Given the description of an element on the screen output the (x, y) to click on. 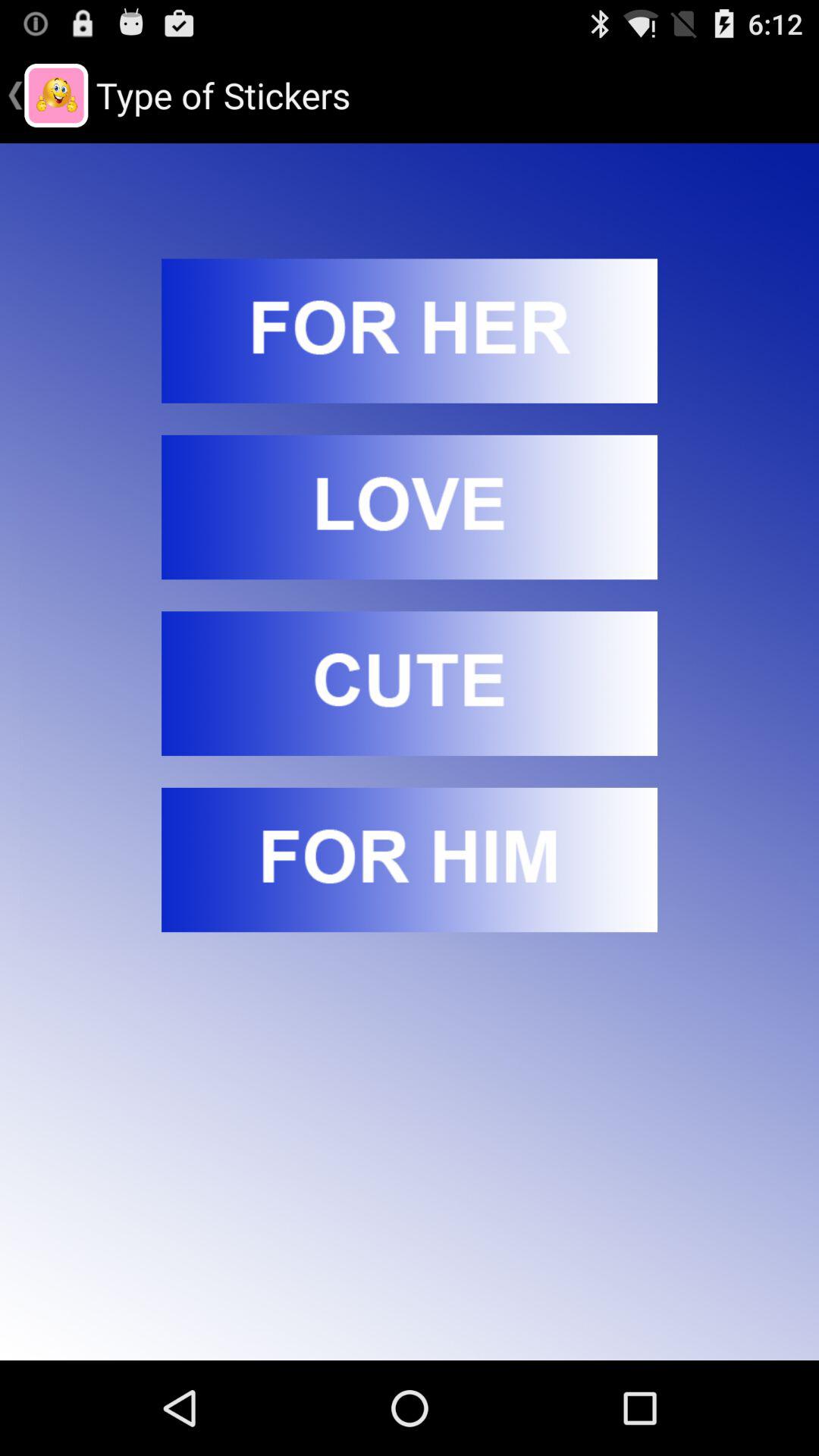
open (409, 683)
